Given the description of an element on the screen output the (x, y) to click on. 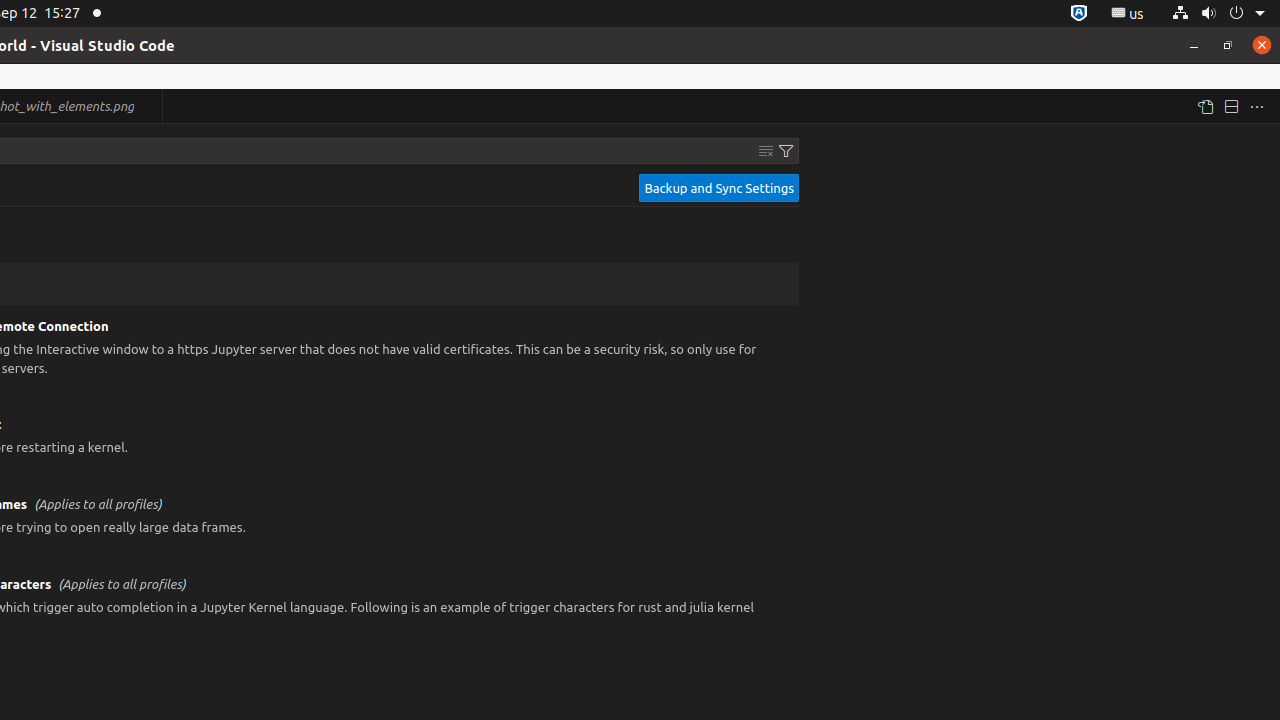
Backup and Sync Settings Element type: push-button (719, 188)
Filter Settings Element type: push-button (786, 151)
Close (Ctrl+W) Element type: push-button (148, 106)
